Given the description of an element on the screen output the (x, y) to click on. 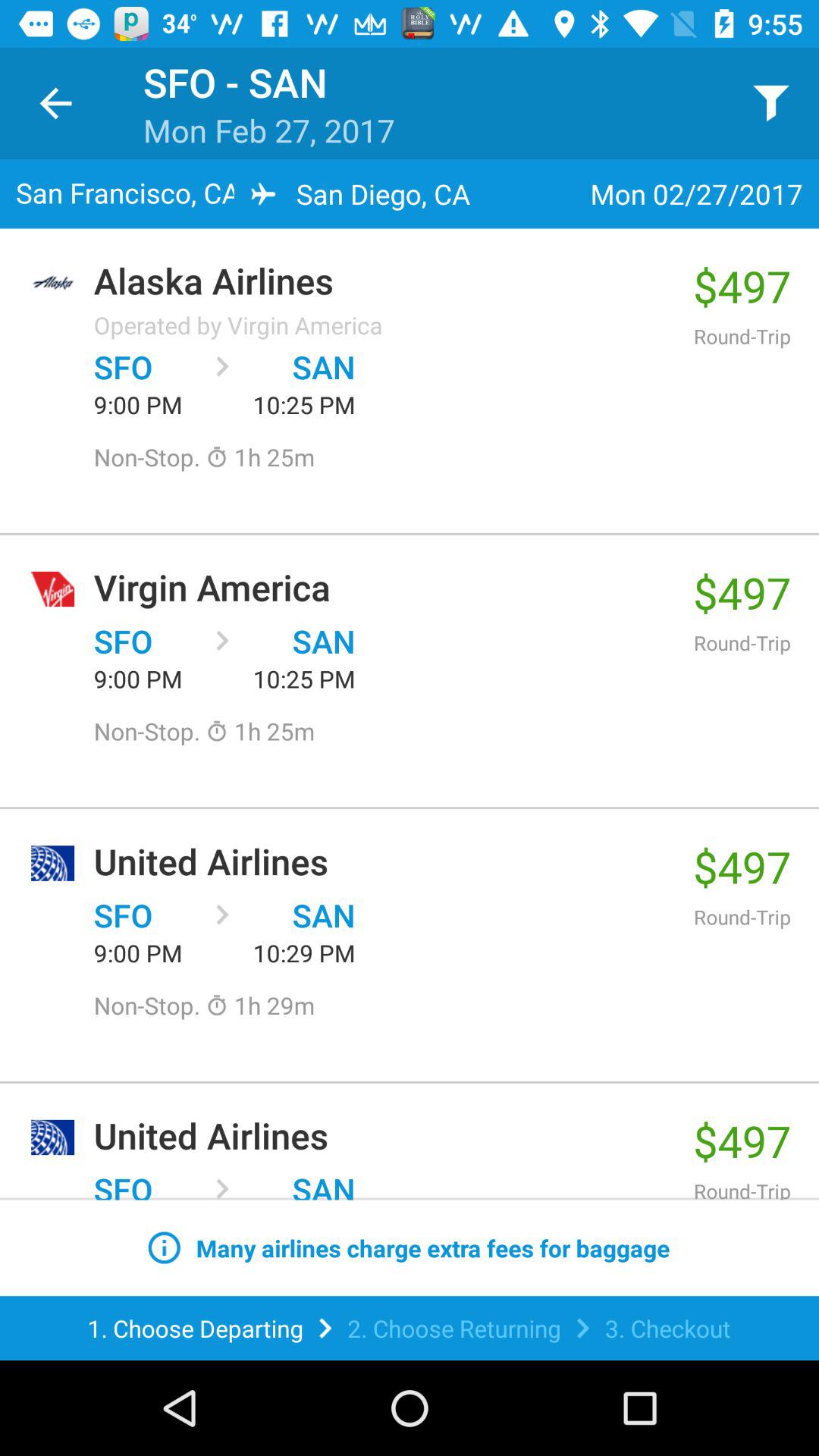
turn on the item to the left of $497 item (385, 280)
